Given the description of an element on the screen output the (x, y) to click on. 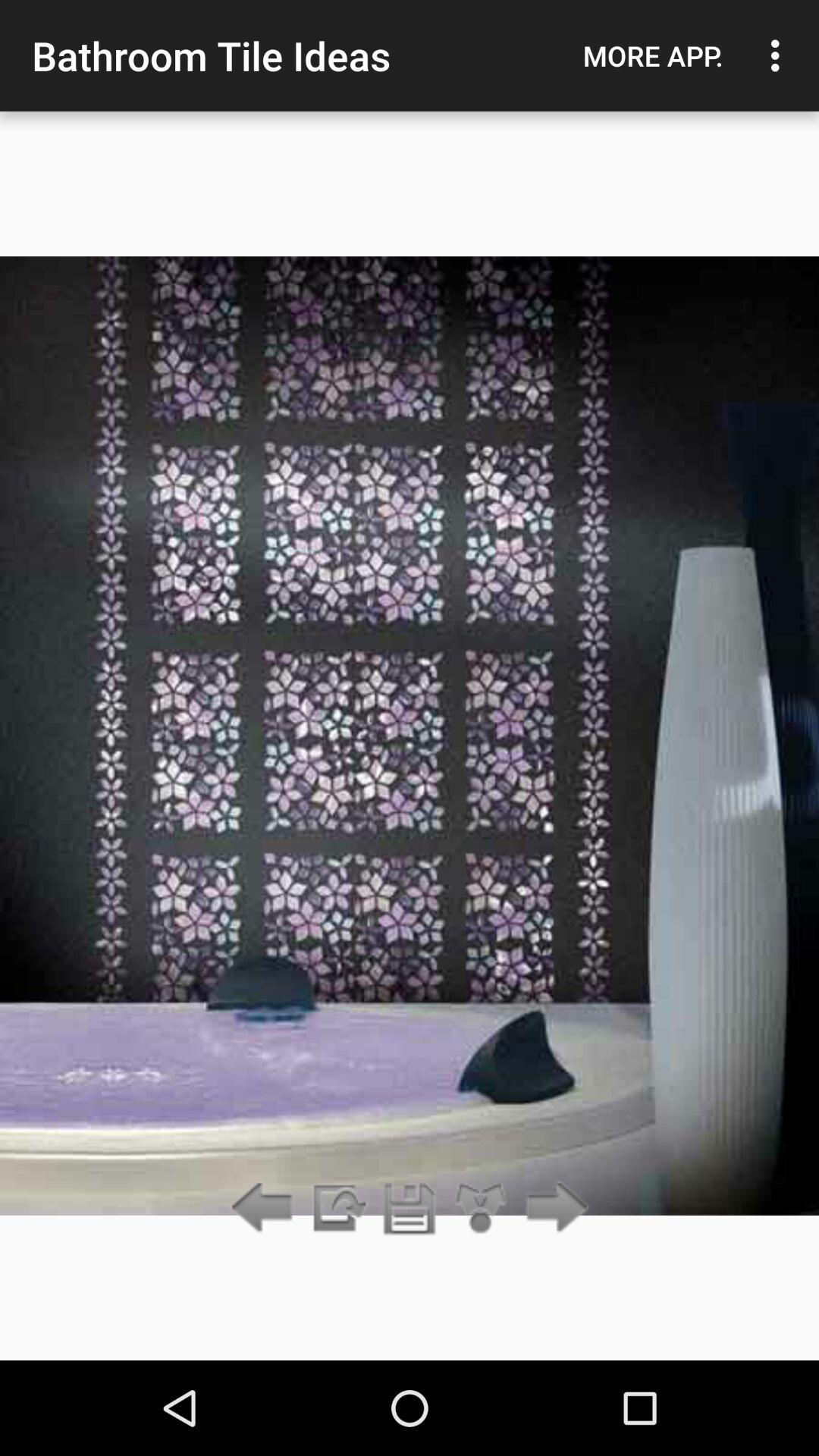
go to previous (337, 1208)
